Given the description of an element on the screen output the (x, y) to click on. 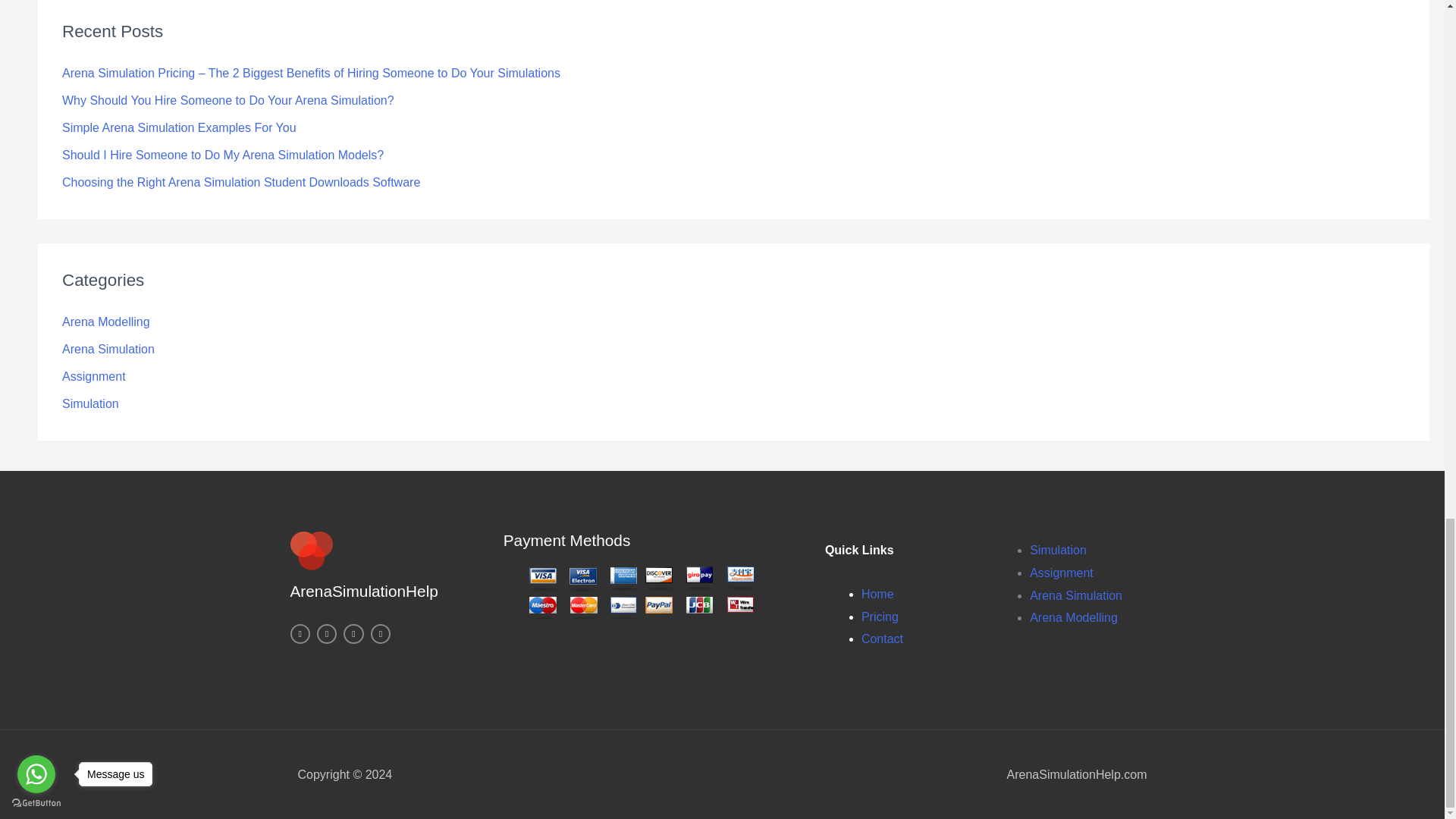
Arena Simulation (1075, 594)
Simple Arena Simulation Examples For You (179, 127)
Instagram (298, 633)
Why Should You Hire Someone to Do Your Arena Simulation? (228, 100)
Facebook (380, 633)
Arena Modelling (105, 321)
Should I Hire Someone to Do My Arena Simulation Models? (223, 154)
Home (877, 594)
Linkedin (352, 633)
Simulation (90, 403)
Simulation (1057, 549)
Contact (881, 638)
Arena Simulation (108, 349)
Assignment (93, 376)
